Given the description of an element on the screen output the (x, y) to click on. 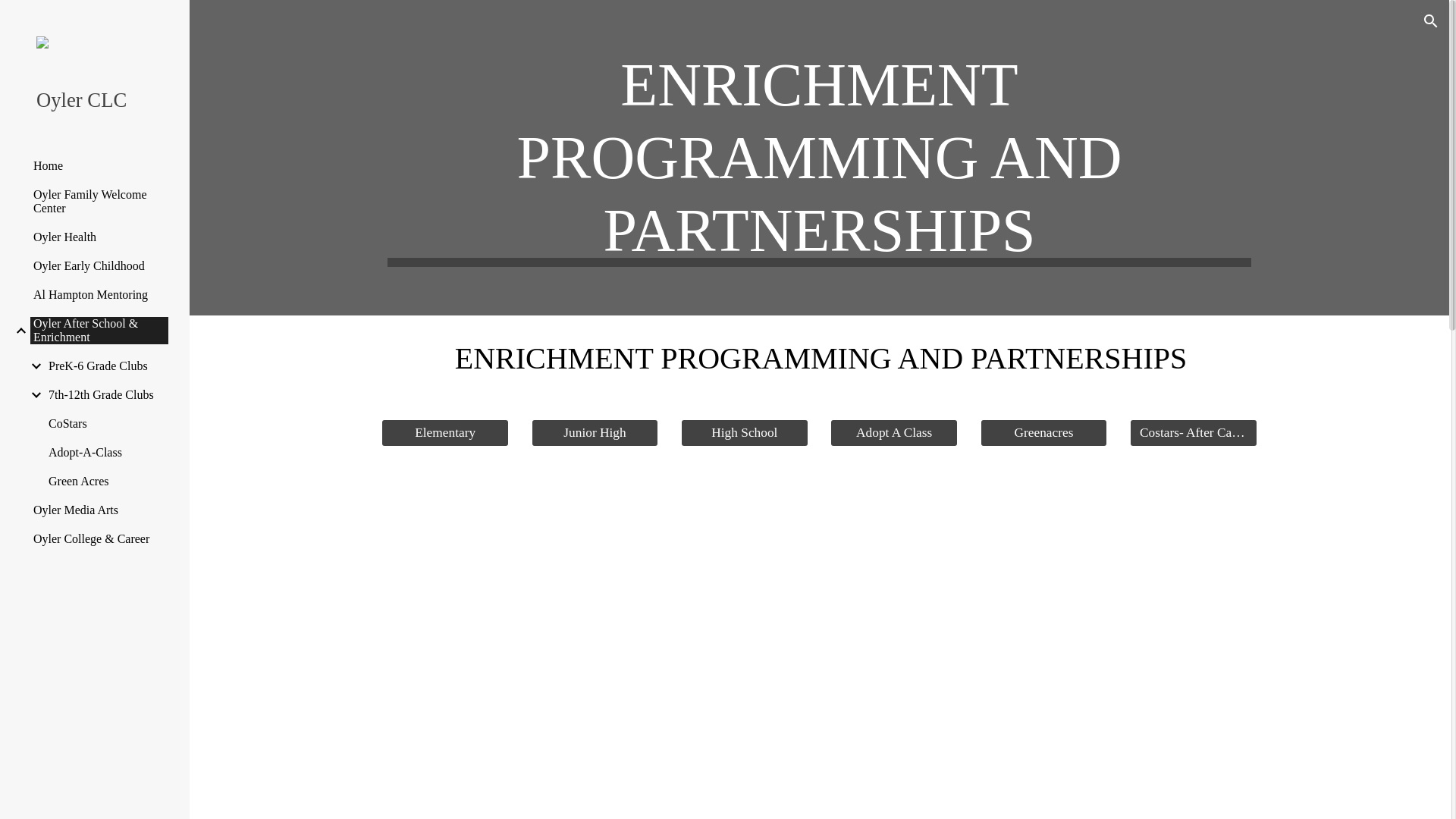
Adopt-A-Class (107, 452)
CoStars (107, 423)
Home (99, 165)
Adopt A Class (893, 433)
Greenacres (1043, 433)
Green Acres (107, 481)
Elementary (444, 433)
Oyler Family Welcome Center (99, 201)
High School (744, 433)
Oyler Media Arts (99, 509)
Junior High (595, 433)
7th-12th Grade Clubs (107, 395)
Al Hampton Mentoring (99, 295)
Oyler Early Childhood (99, 265)
Costars- After Care Program (1193, 433)
